Given the description of an element on the screen output the (x, y) to click on. 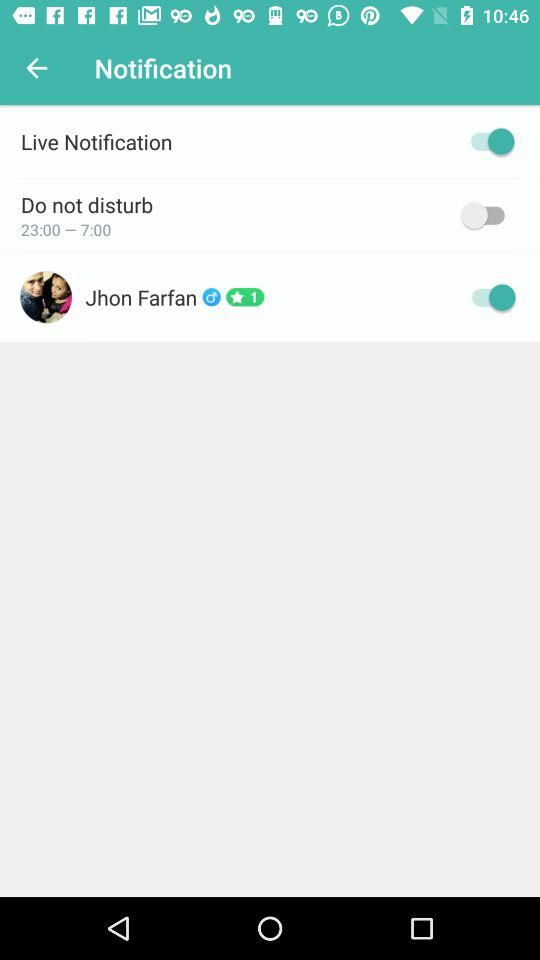
toggle notification option (487, 141)
